Given the description of an element on the screen output the (x, y) to click on. 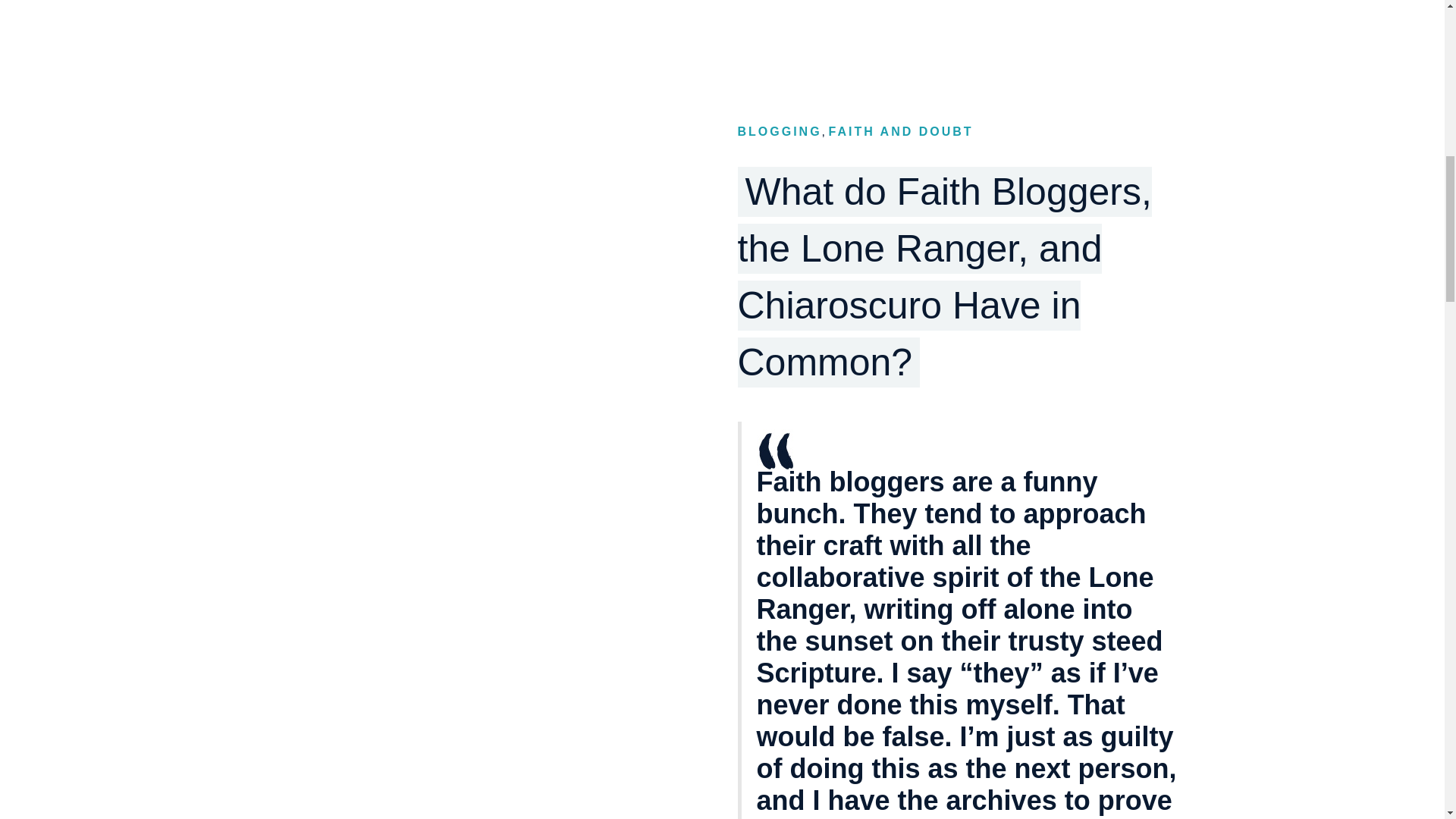
FAITH AND DOUBT (900, 131)
BLOGGING (778, 131)
